Given the description of an element on the screen output the (x, y) to click on. 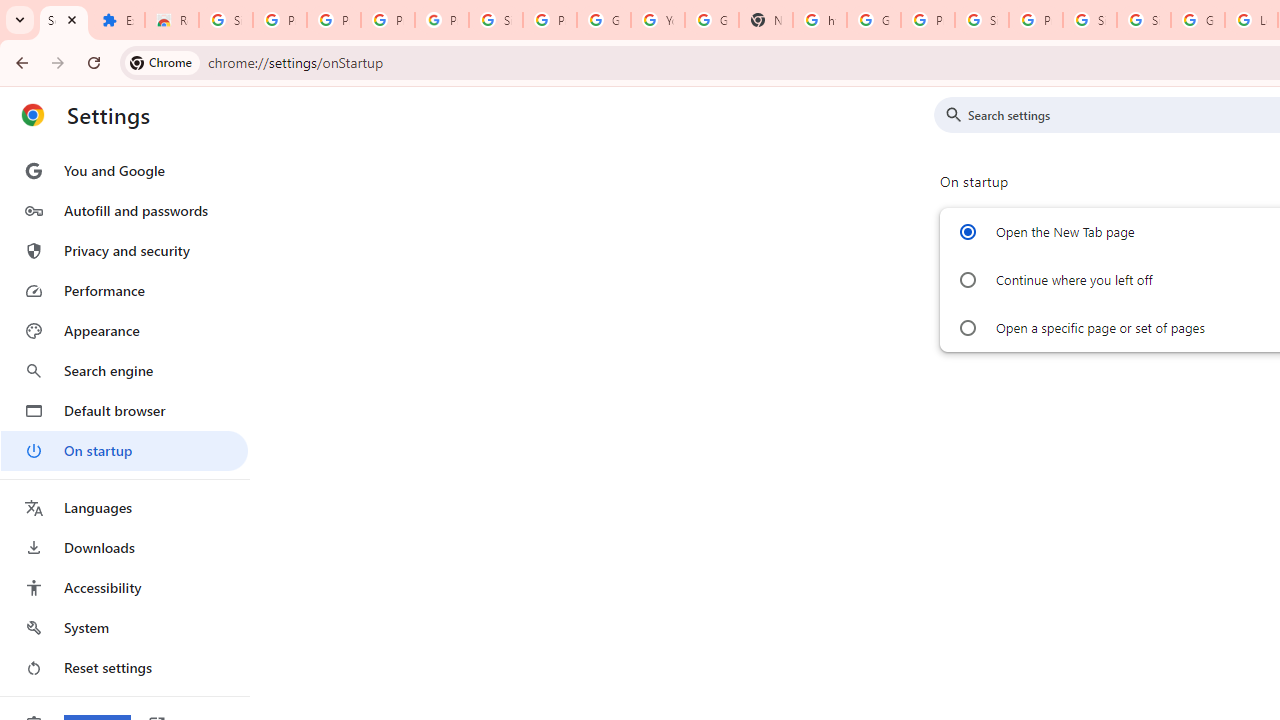
On startup (124, 450)
Open the New Tab page (966, 232)
Open a specific page or set of pages (966, 327)
Privacy and security (124, 250)
Default browser (124, 410)
Reviews: Helix Fruit Jump Arcade Game (171, 20)
Sign in - Google Accounts (981, 20)
You and Google (124, 170)
Extensions (117, 20)
